Given the description of an element on the screen output the (x, y) to click on. 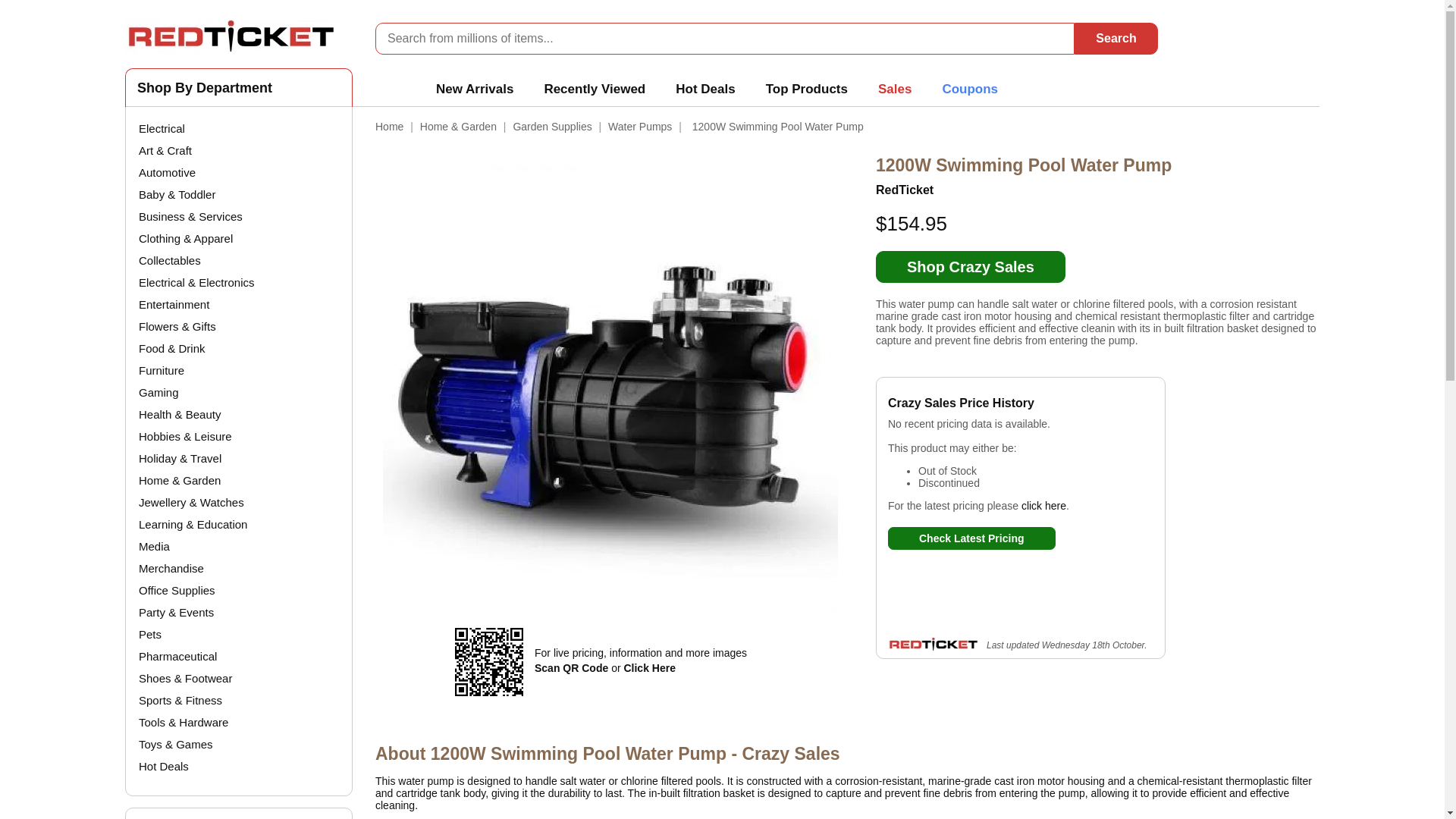
Entertainment (173, 304)
Gaming (158, 391)
1200W Swimming Pool Water Pump. Available at Crazy Sales (1043, 505)
Furniture (161, 369)
Automotive (166, 172)
Garden Supplies (551, 126)
Hot Deals (163, 766)
Home (389, 126)
Collectables (169, 259)
Electrical (161, 128)
